Given the description of an element on the screen output the (x, y) to click on. 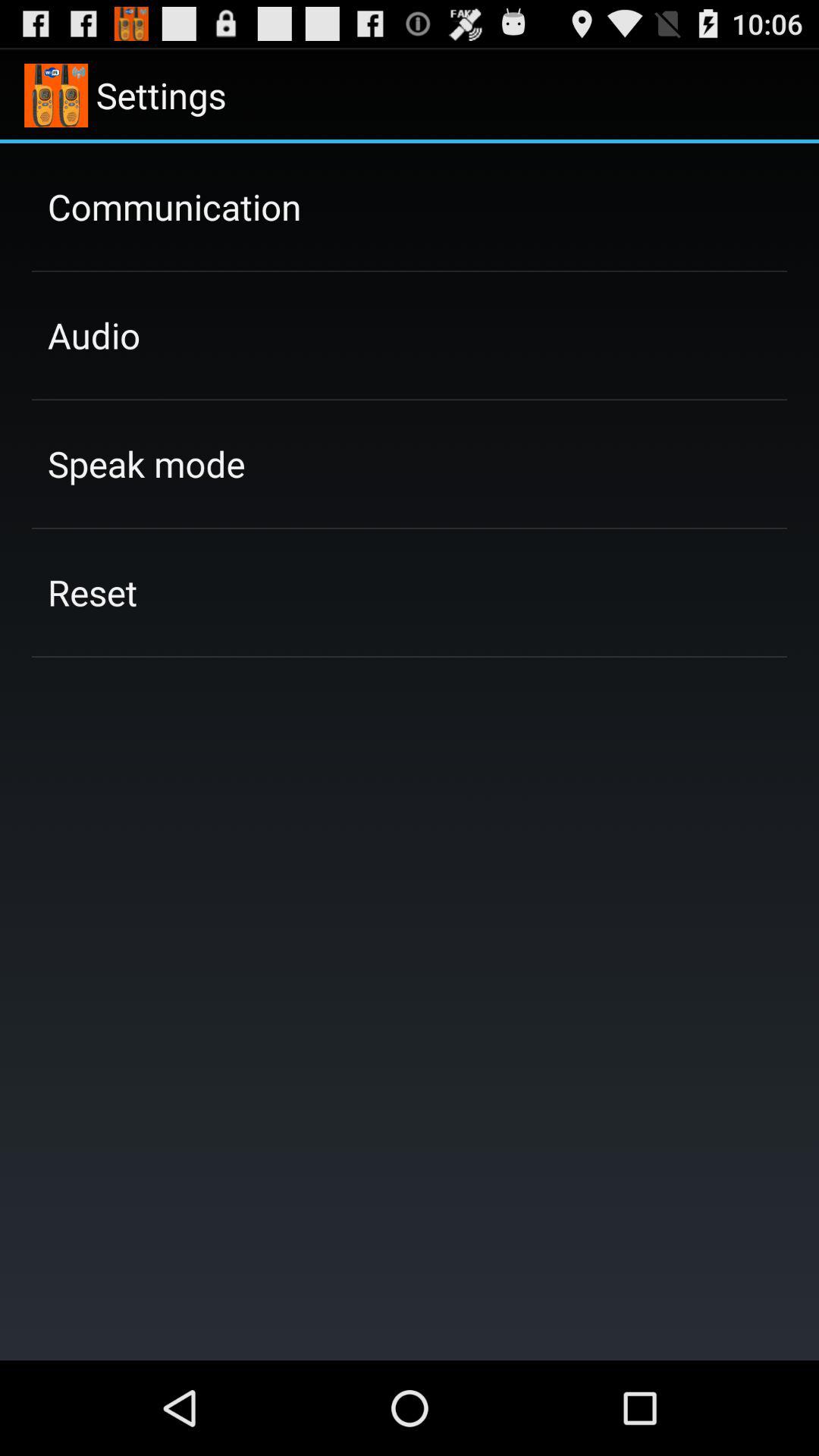
click item above the reset (146, 463)
